Given the description of an element on the screen output the (x, y) to click on. 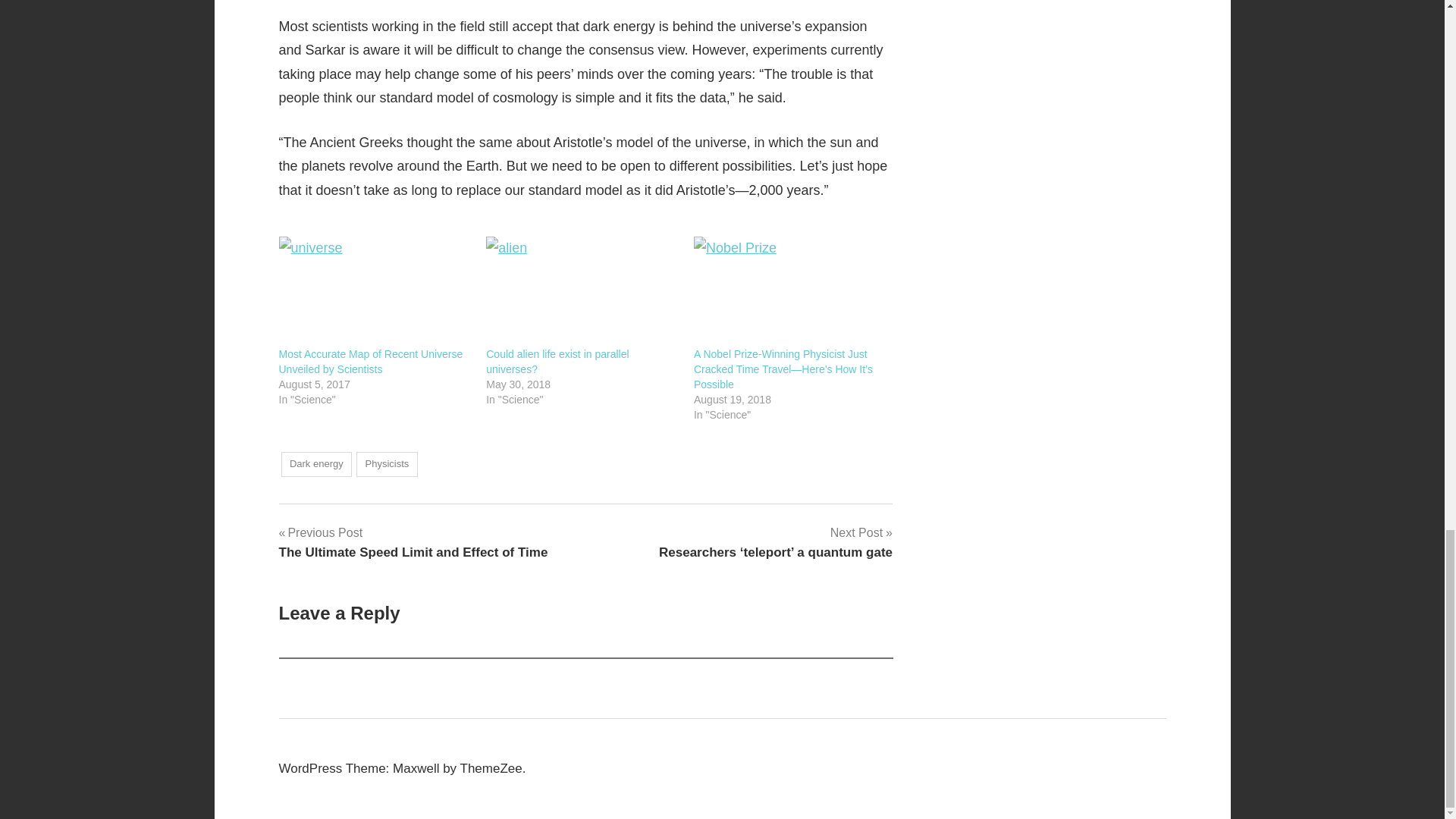
Most Accurate Map of Recent Universe Unveiled by Scientists (371, 361)
Physicists (386, 464)
Most Accurate Map of Recent Universe Unveiled by Scientists (375, 291)
Comment Form (413, 541)
Could alien life exist in parallel universes? (316, 464)
Could alien life exist in parallel universes? (582, 291)
Could alien life exist in parallel universes? (557, 361)
Most Accurate Map of Recent Universe Unveiled by Scientists (557, 361)
